Given the description of an element on the screen output the (x, y) to click on. 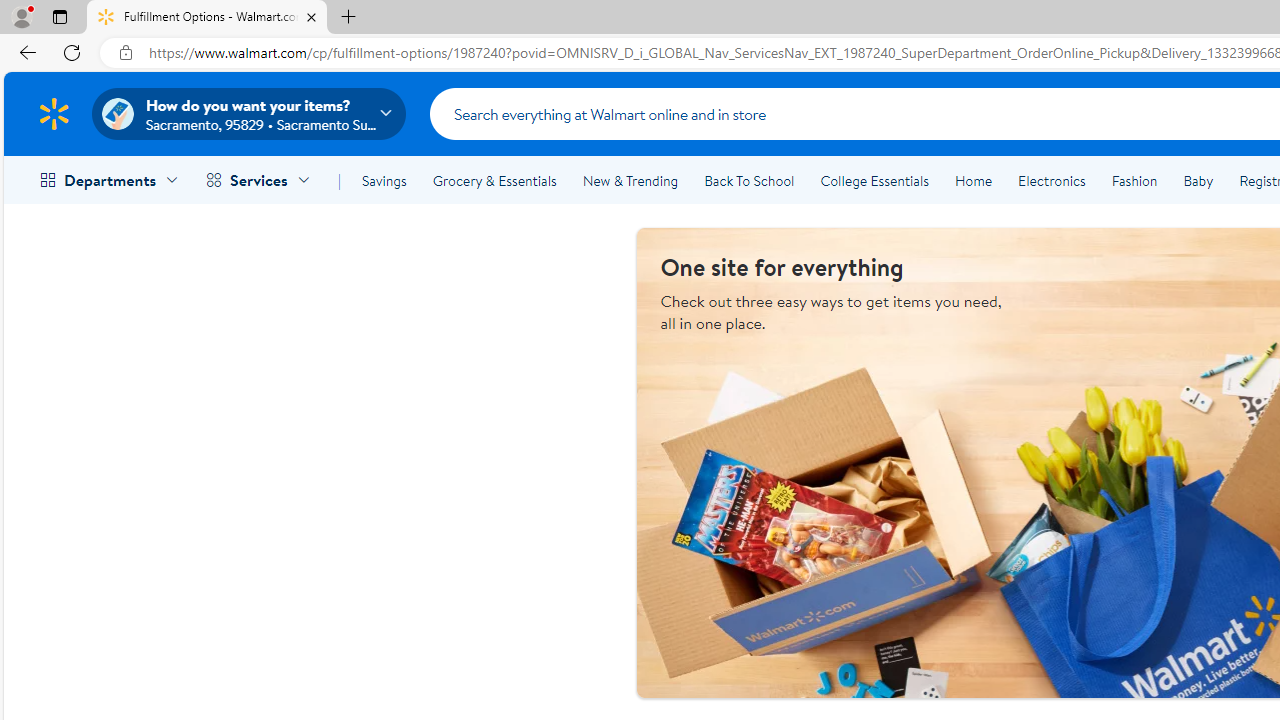
Fulfillment Options - Walmart.com (207, 17)
